Given the description of an element on the screen output the (x, y) to click on. 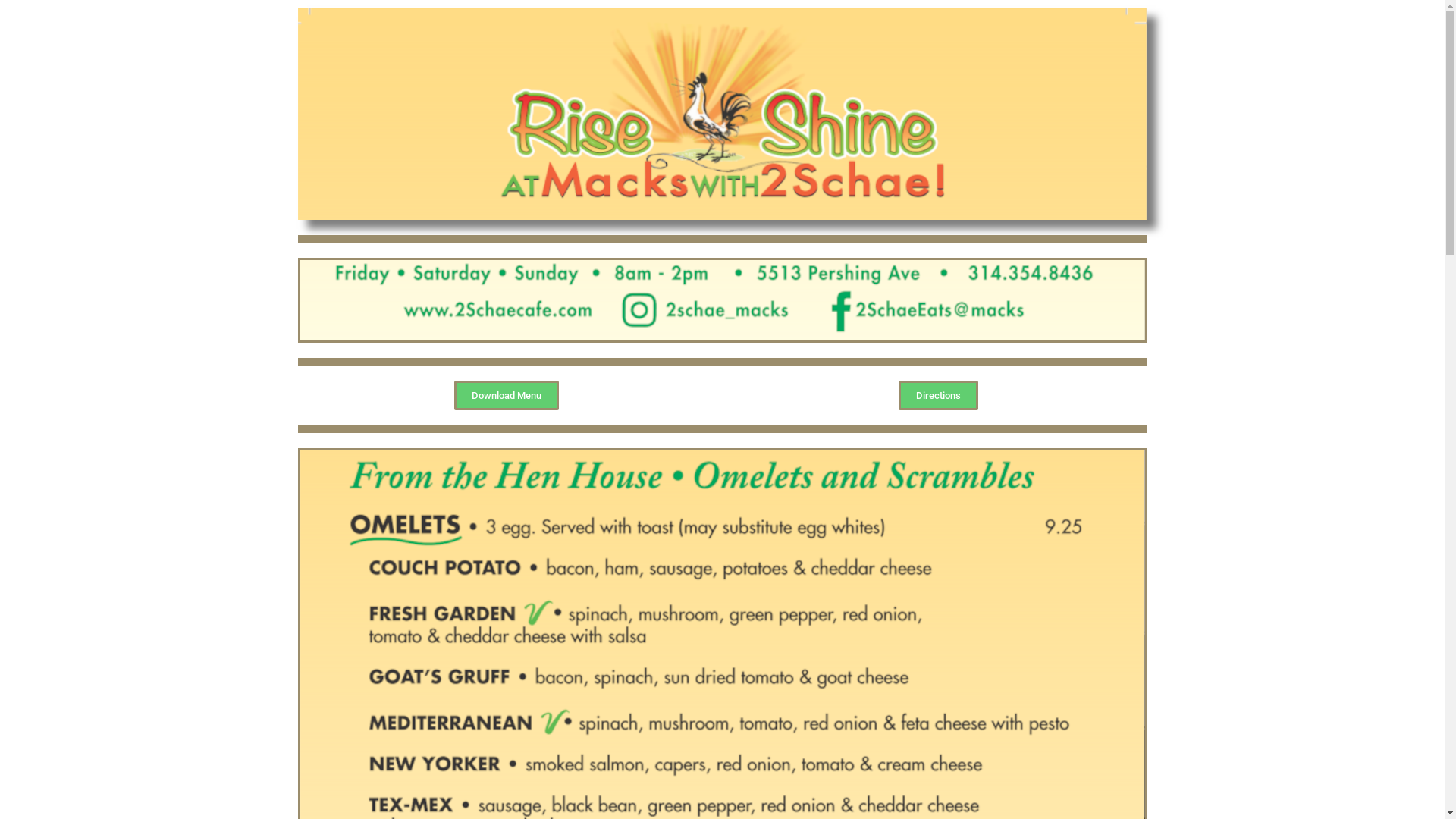
Download Menu Element type: text (505, 395)
Directions Element type: text (938, 395)
